Given the description of an element on the screen output the (x, y) to click on. 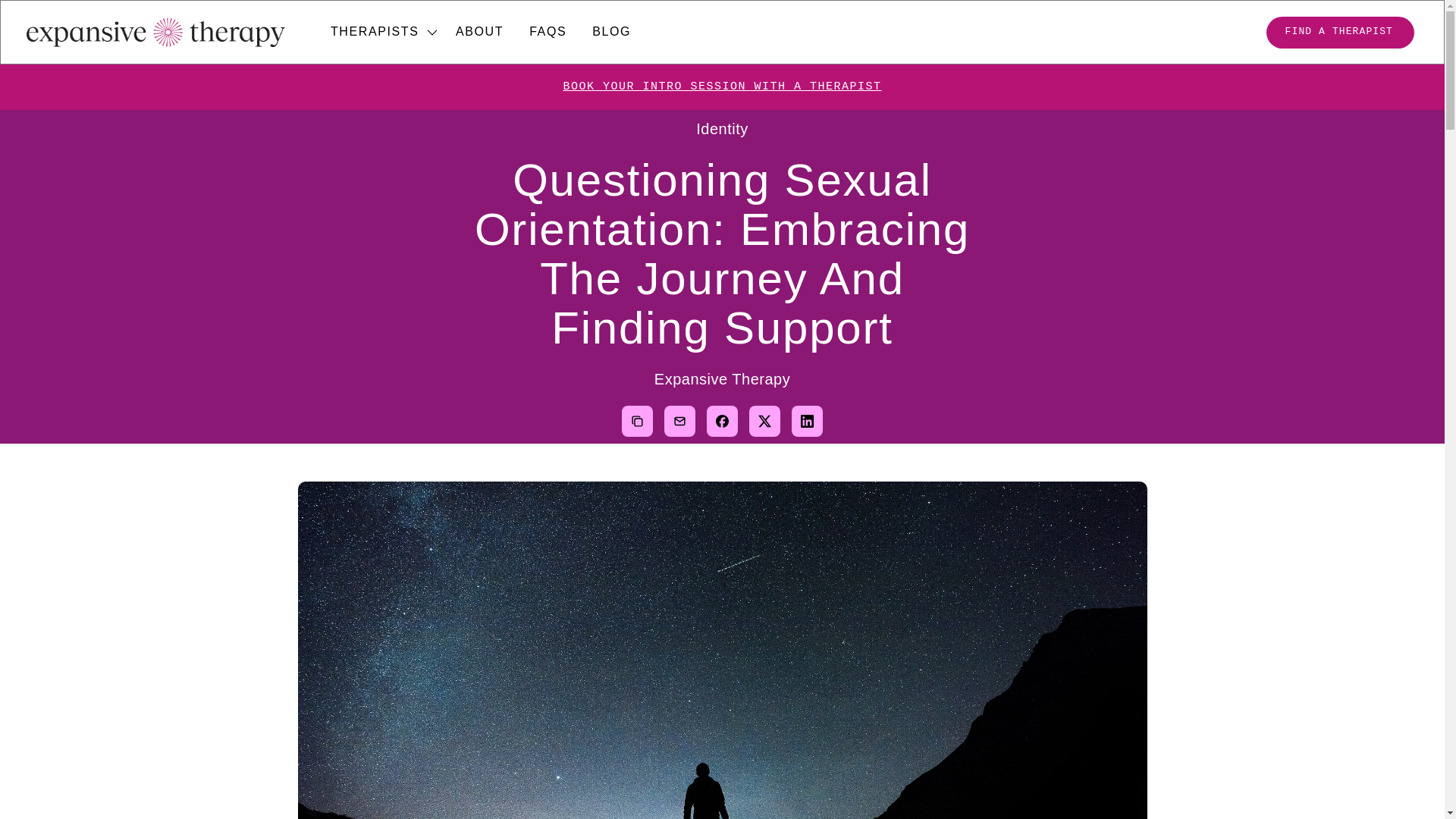
ABOUT (479, 31)
BLOG (611, 31)
FAQS (547, 31)
